Given the description of an element on the screen output the (x, y) to click on. 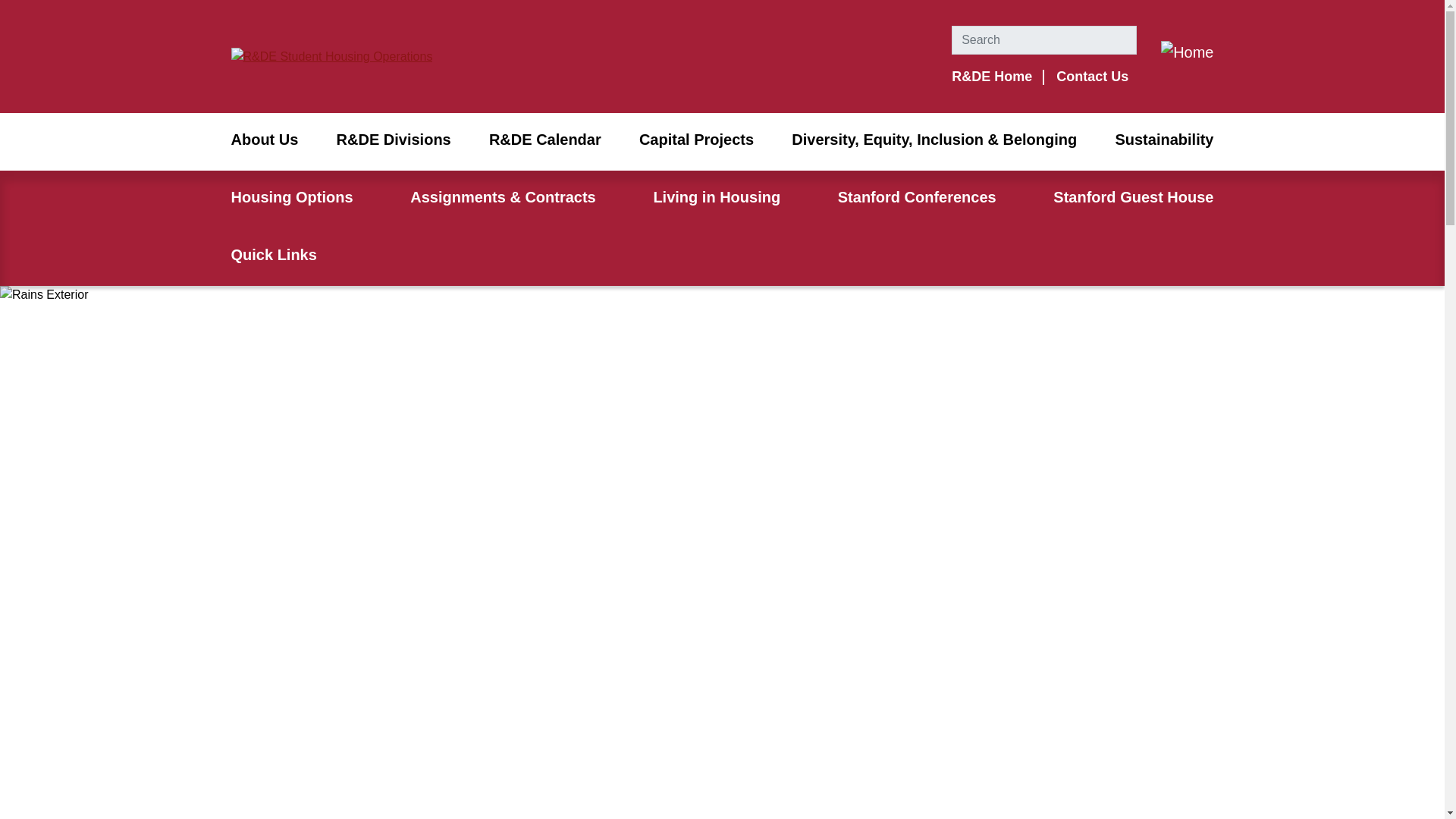
Sustainability (1163, 141)
Enter the terms you wish to search for. (1044, 39)
Home (1186, 51)
Housing Options (291, 199)
About Us (264, 141)
Capital Projects (696, 141)
Contact Us (1092, 76)
